Given the description of an element on the screen output the (x, y) to click on. 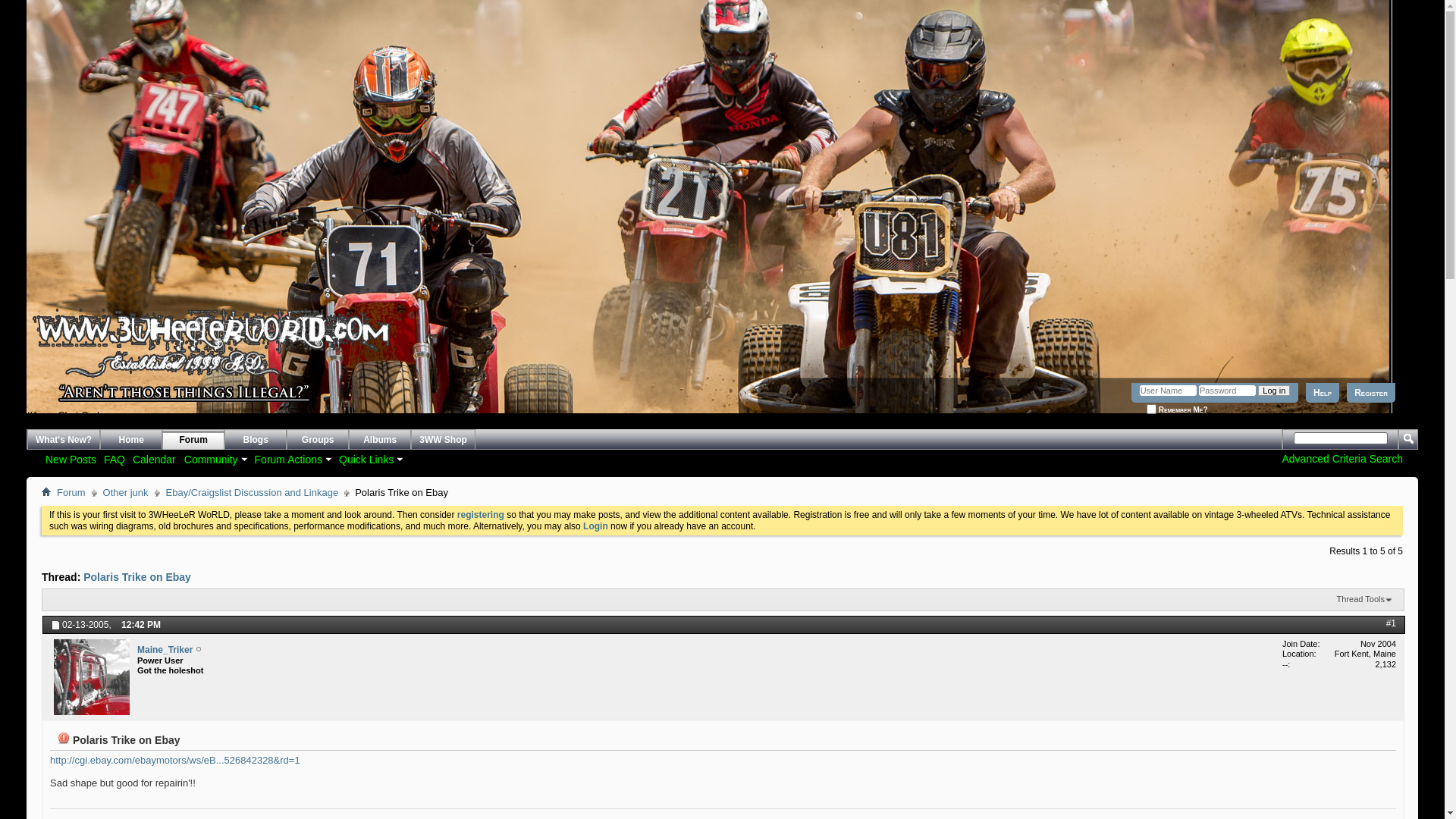
Login Element type: text (595, 525)
Albums Element type: text (379, 439)
What's New? Element type: text (63, 439)
Maine_Triker is offline Element type: hover (198, 649)
New Posts Element type: text (70, 459)
Advanced Criteria Search Element type: text (1341, 458)
FAQ Element type: text (114, 459)
Maine_Triker is offline Element type: hover (91, 677)
Groups Element type: text (317, 439)
3WW Shop Element type: text (442, 439)
Blogs Element type: text (254, 439)
Forum Actions Element type: text (292, 459)
Home Element type: hover (45, 490)
Help Element type: text (1322, 392)
Exclamation Element type: hover (63, 737)
Forum Element type: text (192, 439)
Ebay/Craigslist Discussion and Linkage Element type: text (252, 492)
3WHeeLeR WoRLD - Powered by vBulletin Element type: hover (26, 382)
Polaris Trike on Ebay Element type: text (137, 577)
registering Element type: text (480, 514)
Other junk Element type: text (125, 492)
Quick Links Element type: text (369, 459)
Community Element type: text (214, 459)
Calendar Element type: text (153, 459)
Home Element type: text (130, 439)
#1 Element type: text (1391, 623)
http://cgi.ebay.com/ebaymotors/ws/eB...526842328&rd=1 Element type: text (175, 759)
Maine_Triker Element type: text (164, 649)
Register Element type: text (1370, 392)
Forum Element type: text (71, 492)
Thread Tools Element type: text (1364, 599)
Log in Element type: text (1273, 390)
